Given the description of an element on the screen output the (x, y) to click on. 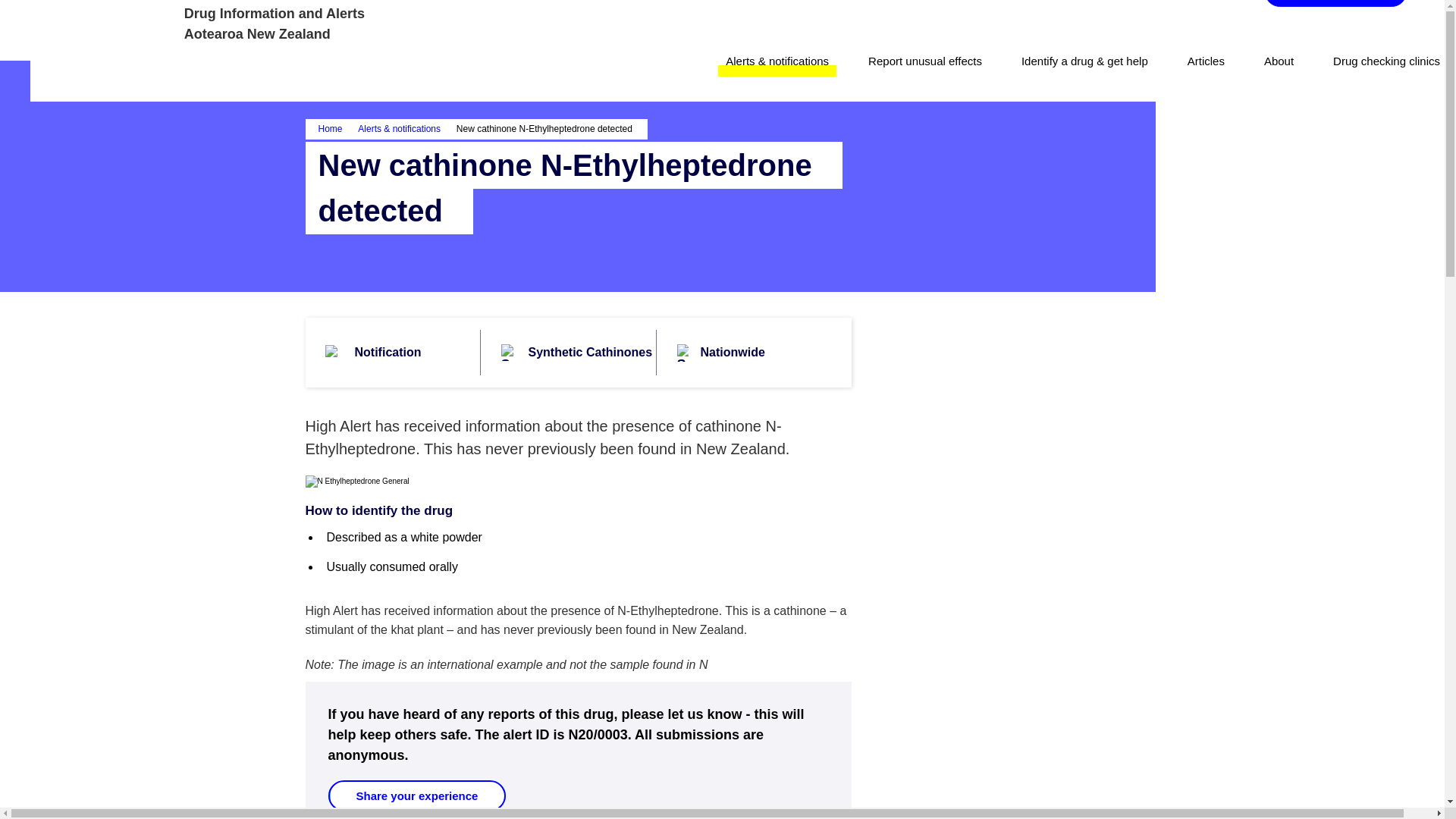
Report unusual effects (925, 60)
Subscribe to updates (1335, 3)
About (1278, 60)
Articles (1205, 60)
Home (337, 128)
Share your experience (416, 795)
